Given the description of an element on the screen output the (x, y) to click on. 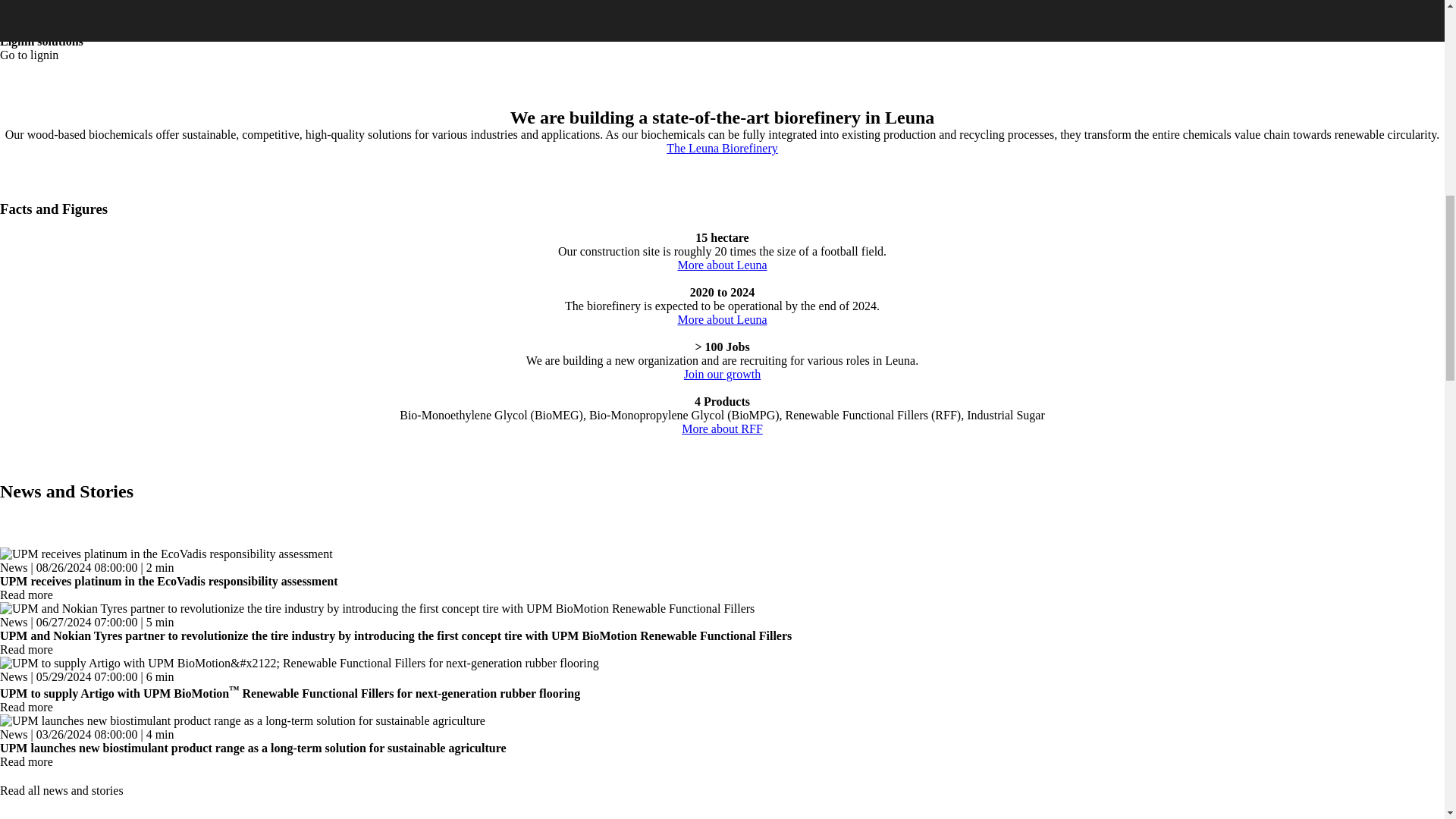
Join our growth (722, 373)
More about Leuna (722, 264)
More about Leuna (722, 318)
More about RFF (721, 428)
The Leuna Biorefinery (721, 147)
